Given the description of an element on the screen output the (x, y) to click on. 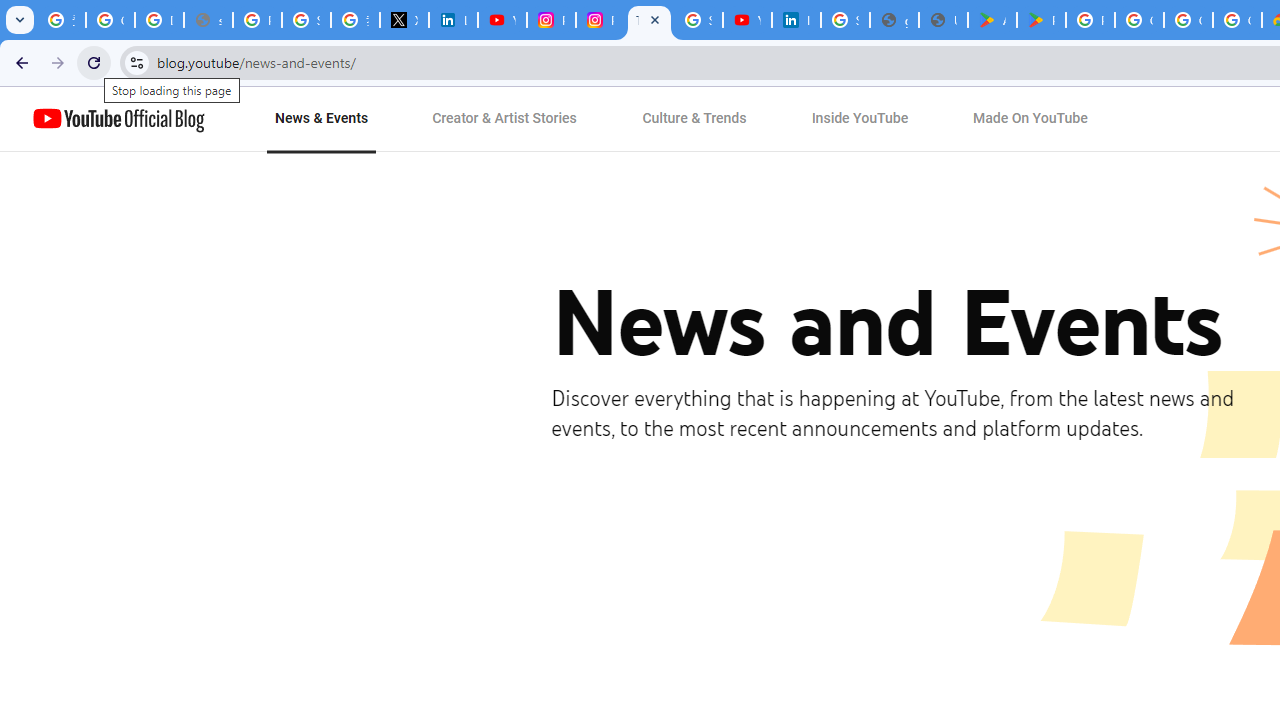
support.google.com - Network error (208, 20)
News & Events (321, 119)
Inside YouTube (859, 119)
Made On YouTube (1030, 119)
User Details (943, 20)
